Given the description of an element on the screen output the (x, y) to click on. 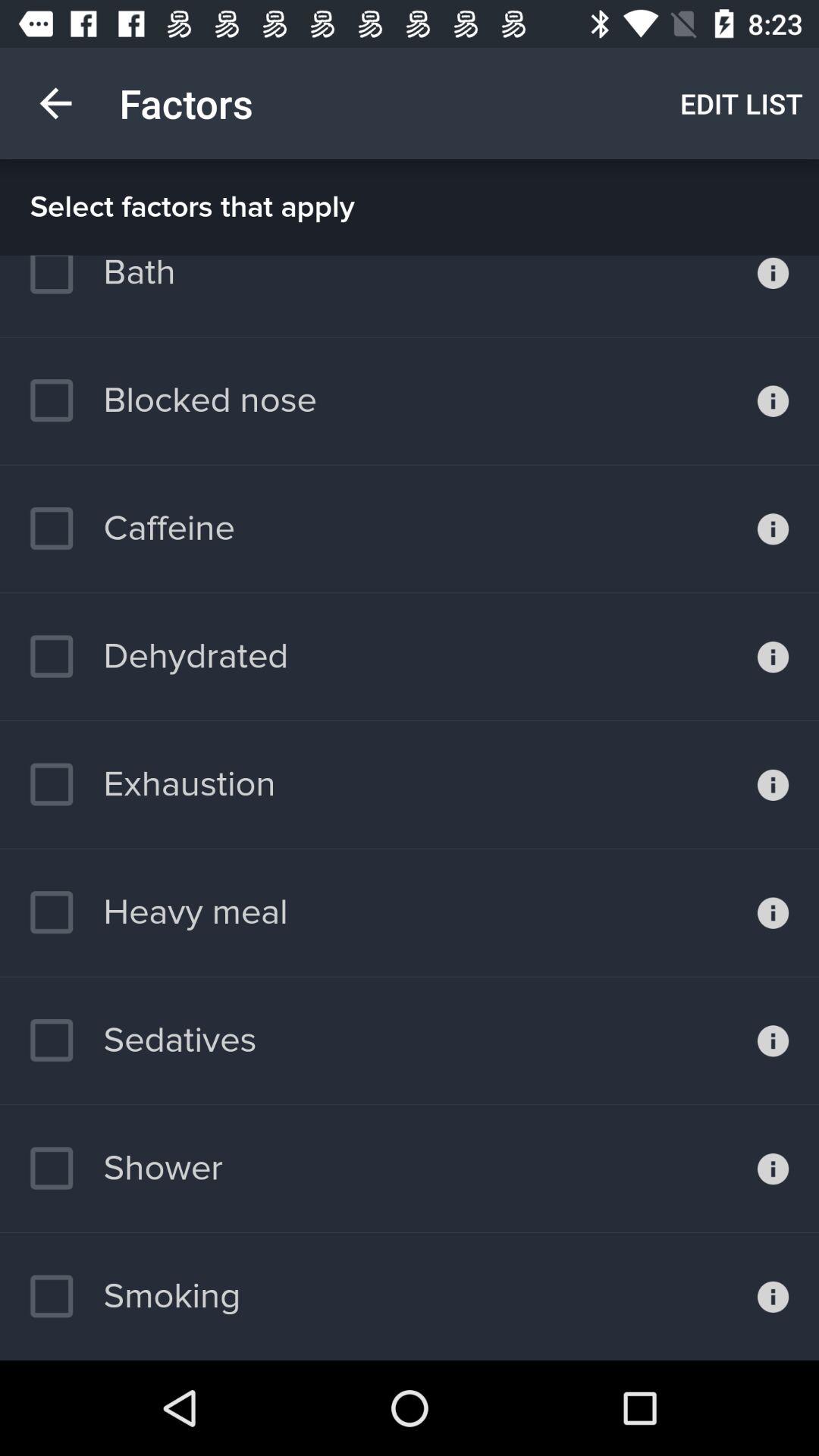
block this (773, 400)
